Given the description of an element on the screen output the (x, y) to click on. 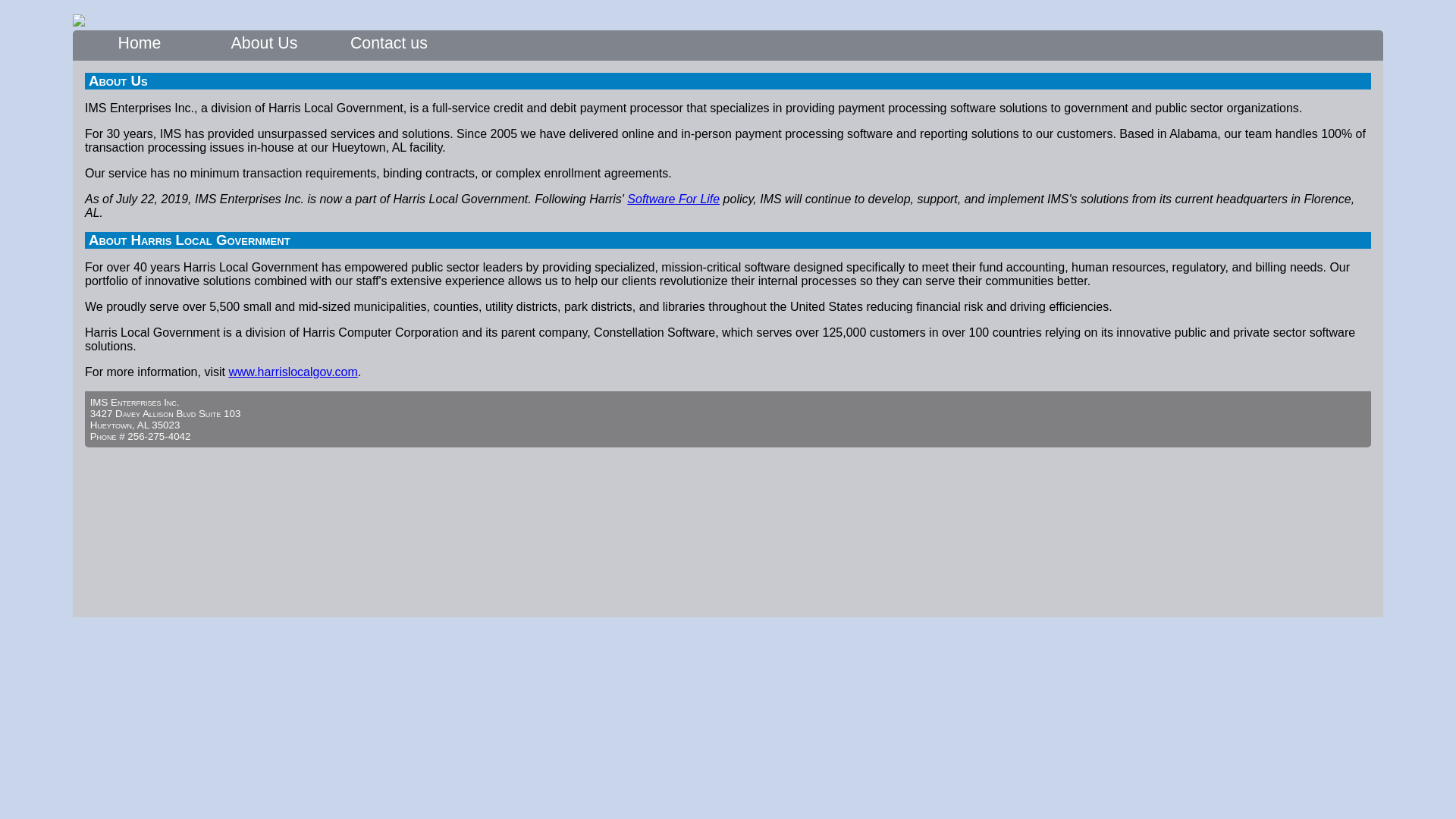
Contact us (389, 49)
www.harrislocalgov.com (292, 378)
About Us (264, 50)
Home (139, 50)
Software For Life (673, 205)
